Given the description of an element on the screen output the (x, y) to click on. 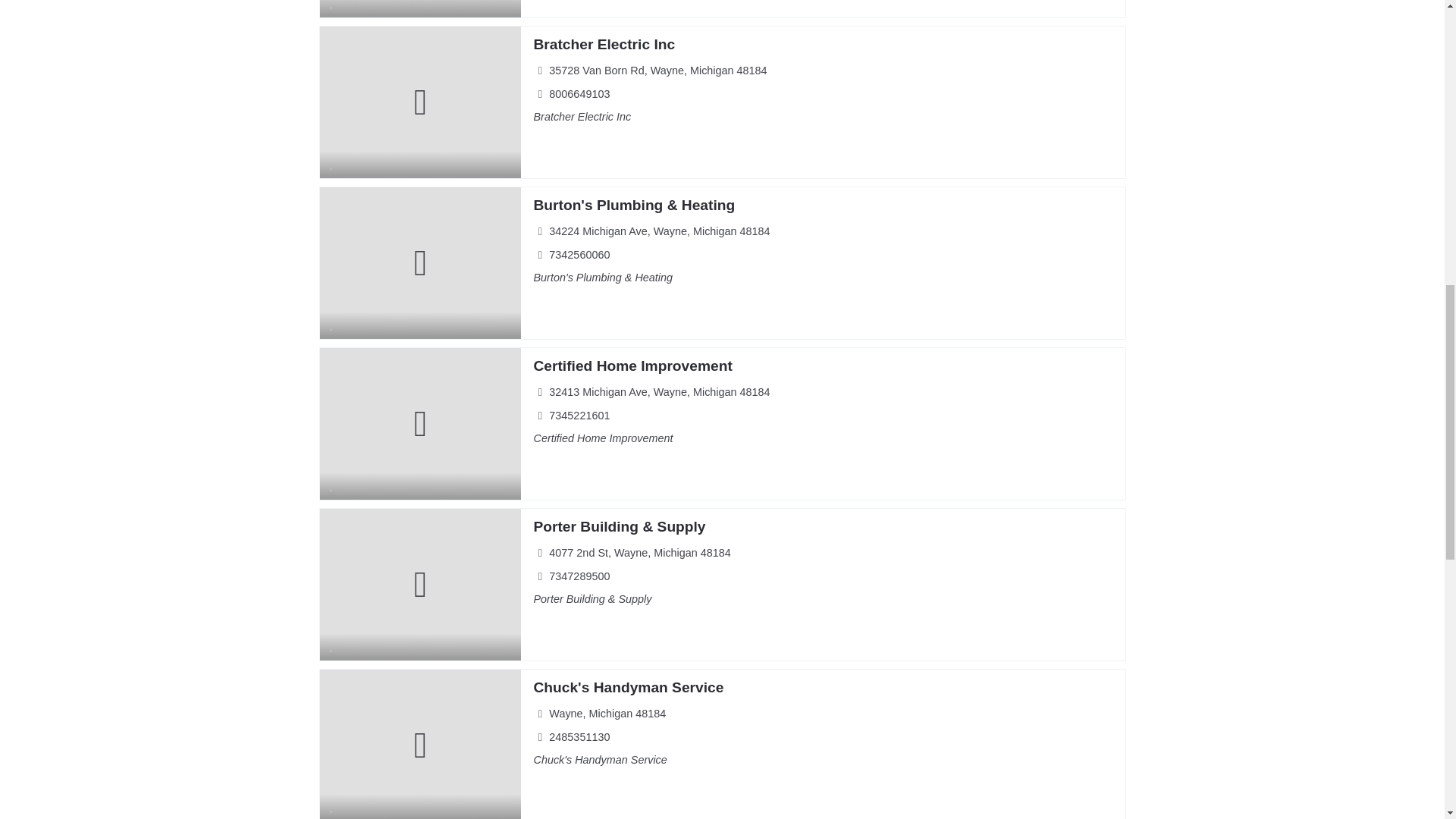
Certified Home Improvement (632, 365)
Bookmark (331, 8)
Certified Home Improvement (632, 365)
Bratcher Electric Inc (603, 44)
Bratcher Electric Inc (603, 44)
Chuck's Handyman Service (627, 687)
